Given the description of an element on the screen output the (x, y) to click on. 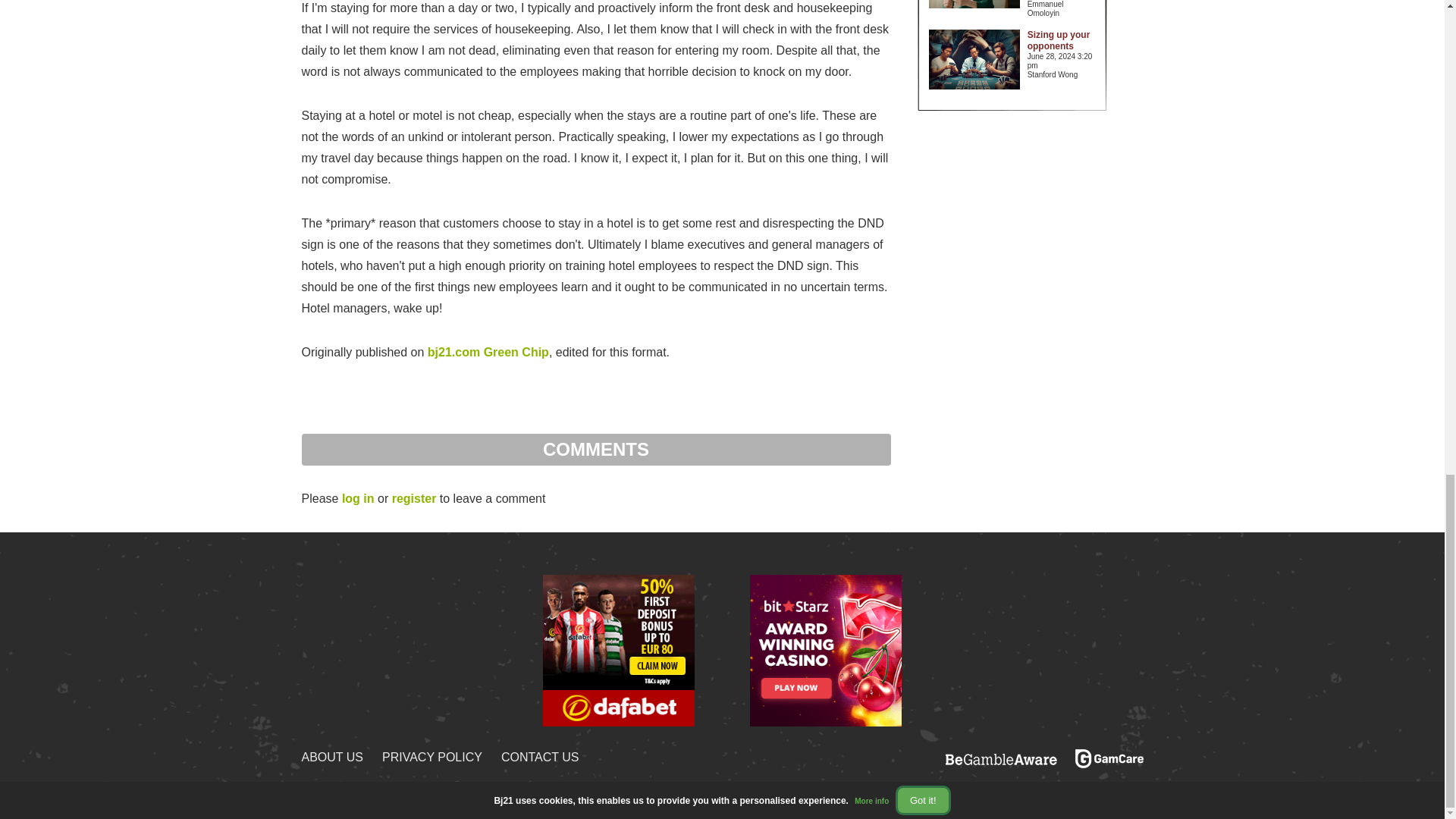
Visit BitStarz Casino (825, 649)
Emmanuel Omoloyin (1061, 9)
Stanford Wong (1061, 74)
Sizing up your opponents (1058, 40)
Visit Dafabet Casino (618, 649)
